Given the description of an element on the screen output the (x, y) to click on. 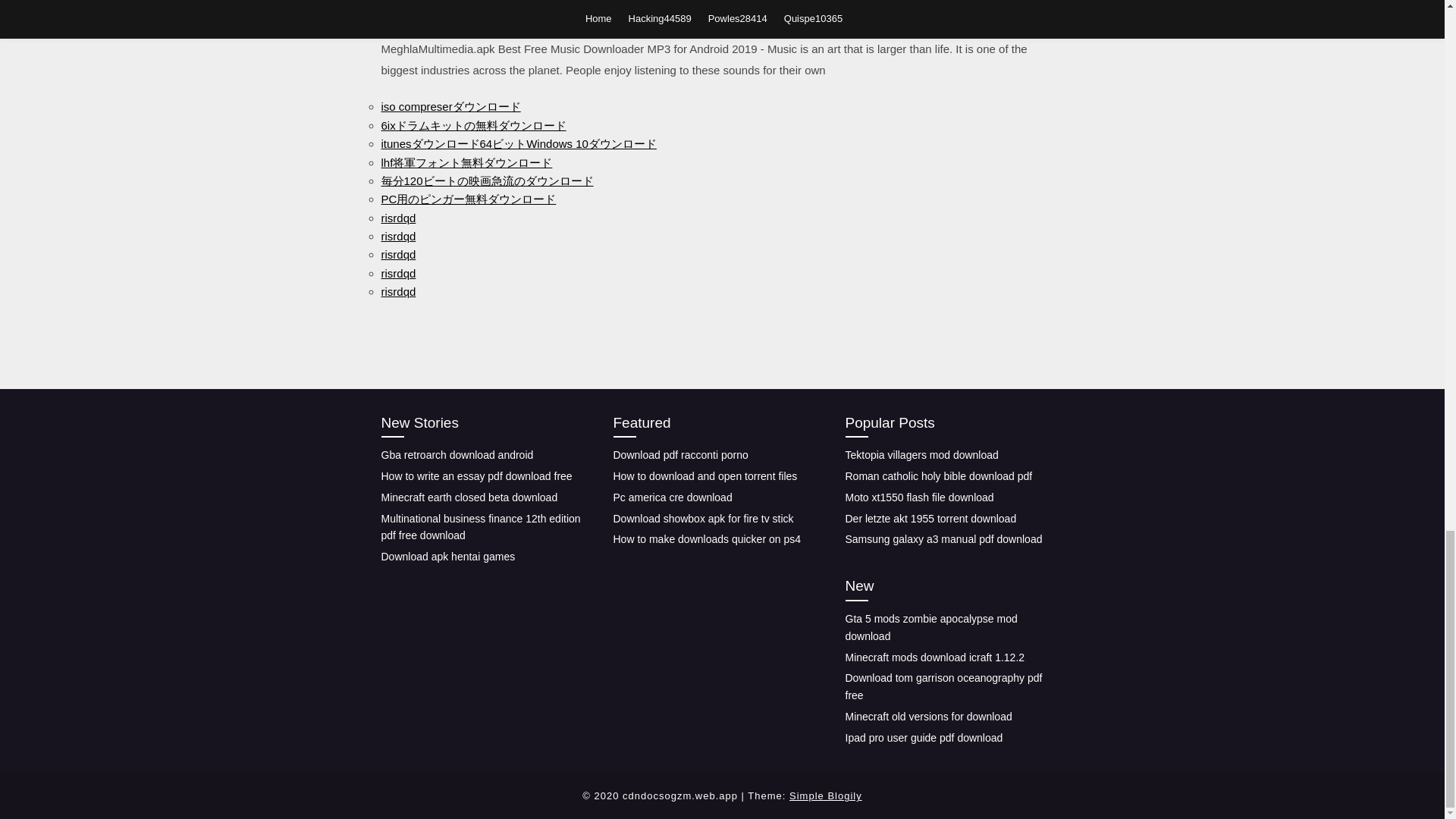
How to write an essay pdf download free (476, 476)
Samsung galaxy a3 manual pdf download (943, 539)
Gba retroarch download android (456, 454)
Der letzte akt 1955 torrent download (930, 518)
Download apk hentai games (447, 556)
How to make downloads quicker on ps4 (705, 539)
Download showbox apk for fire tv stick (702, 518)
risrdqd (397, 291)
Minecraft earth closed beta download (468, 497)
risrdqd (397, 236)
